Given the description of an element on the screen output the (x, y) to click on. 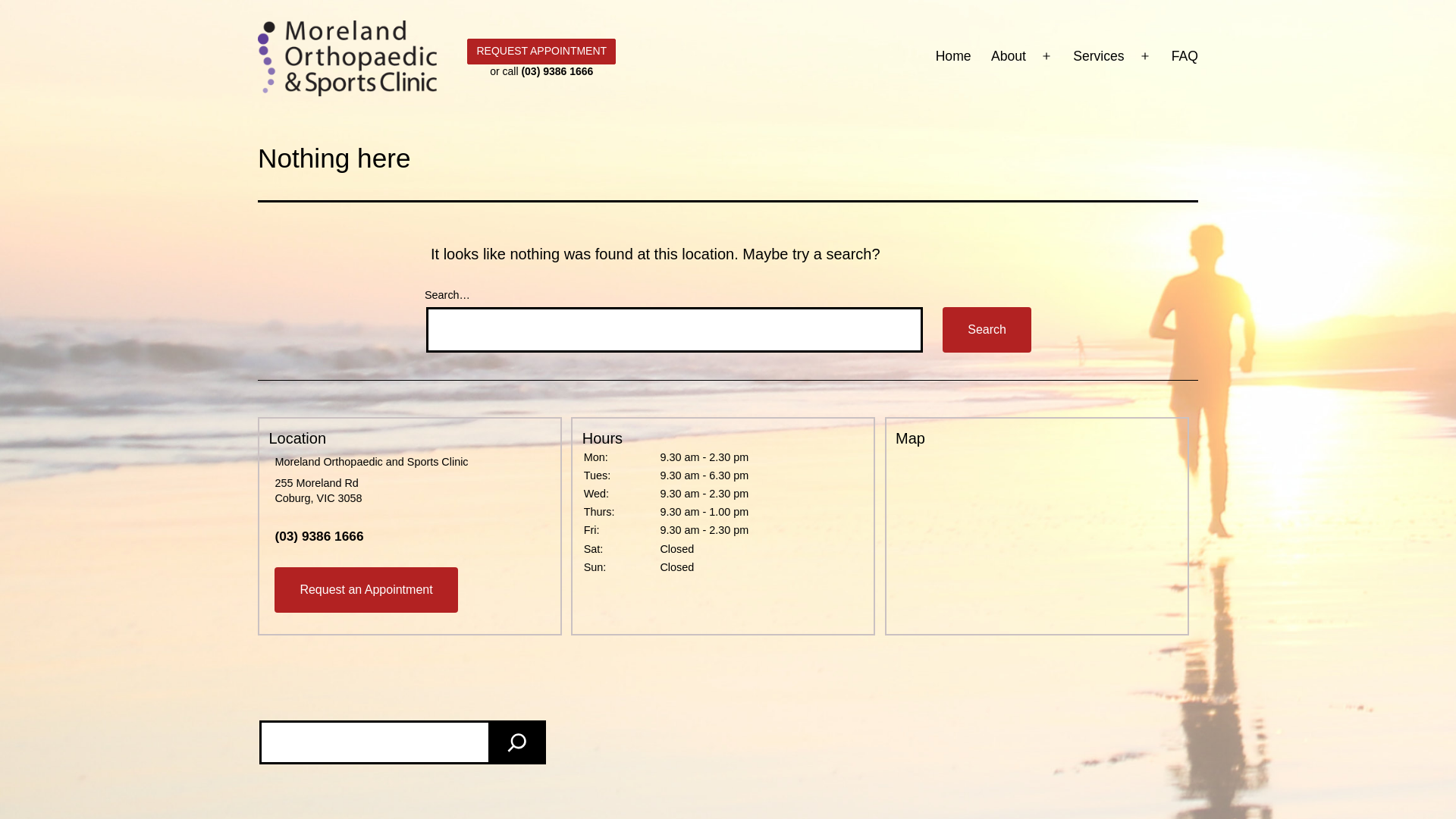
Search Element type: text (986, 329)
Open menu Element type: text (1144, 55)
Request an Appointment Element type: text (365, 589)
Home Element type: text (952, 56)
Open menu Element type: text (1046, 55)
Services Element type: text (1098, 56)
(03) 9386 1666 Element type: text (556, 71)
About Element type: text (1008, 56)
FAQ Element type: text (1184, 56)
(03) 9386 1666 Element type: text (318, 535)
